Given the description of an element on the screen output the (x, y) to click on. 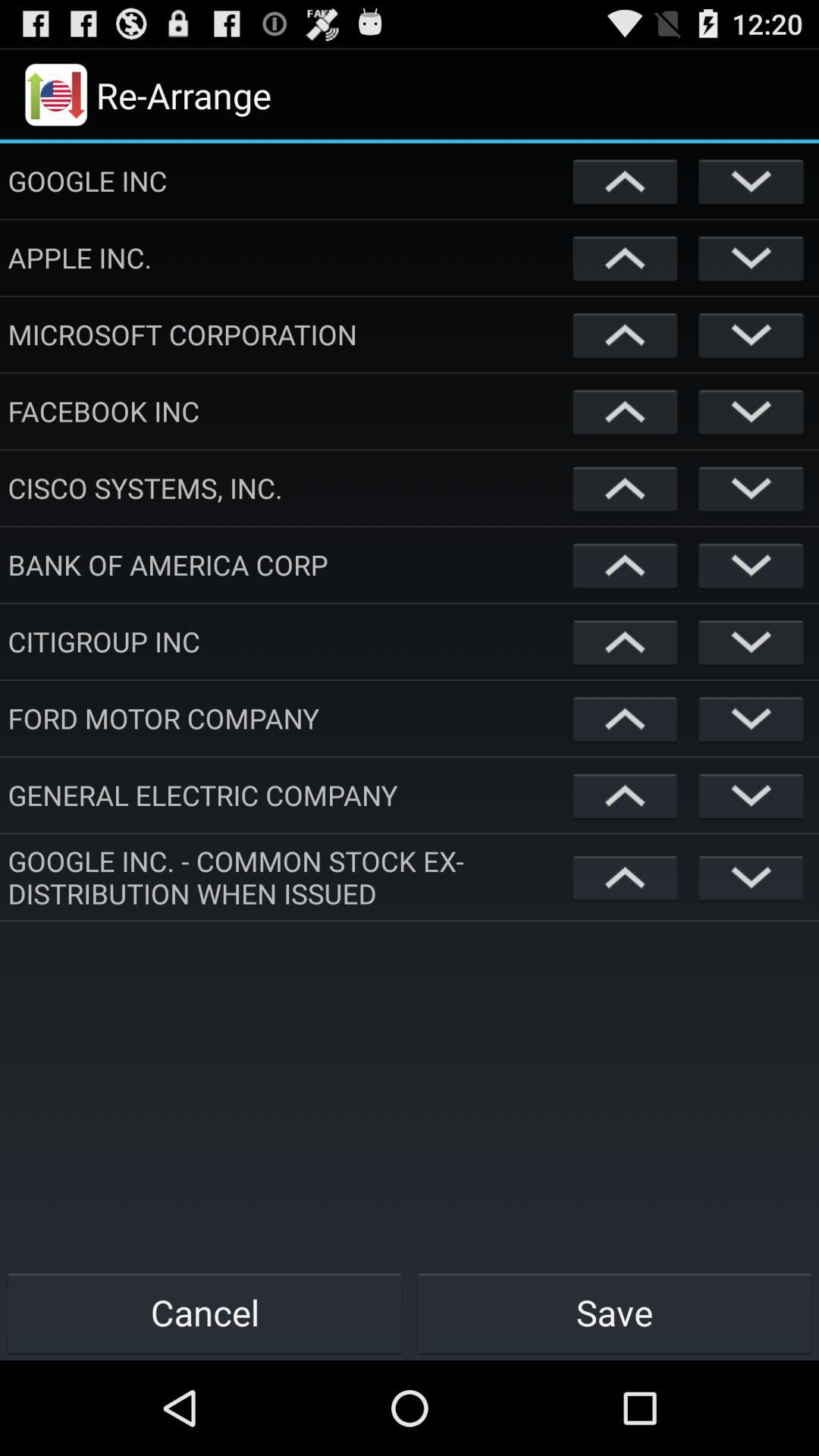
go to face book (624, 411)
